Given the description of an element on the screen output the (x, y) to click on. 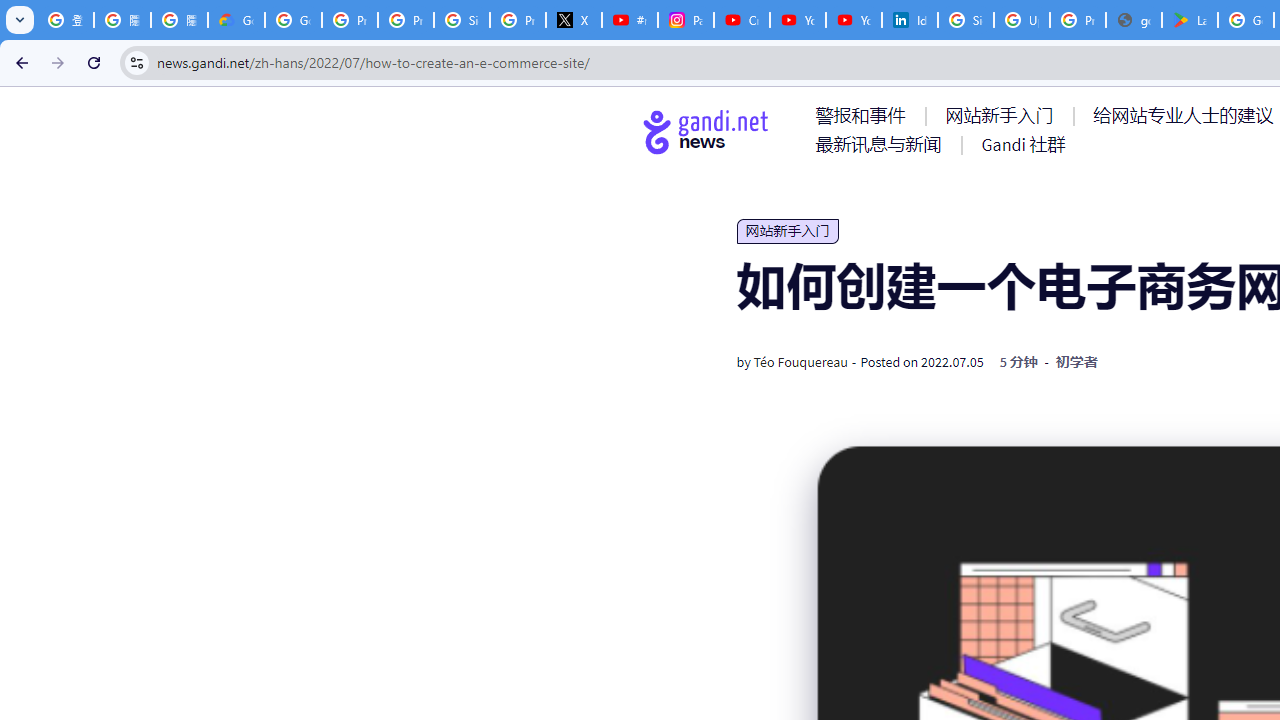
Sign in - Google Accounts (966, 20)
YouTube Culture & Trends - YouTube Top 10, 2021 (853, 20)
Last Shelter: Survival - Apps on Google Play (1190, 20)
google_privacy_policy_en.pdf (1133, 20)
Privacy Help Center - Policies Help (405, 20)
Identity verification via Persona | LinkedIn Help (909, 20)
AutomationID: menu-item-77766 (882, 143)
